Given the description of an element on the screen output the (x, y) to click on. 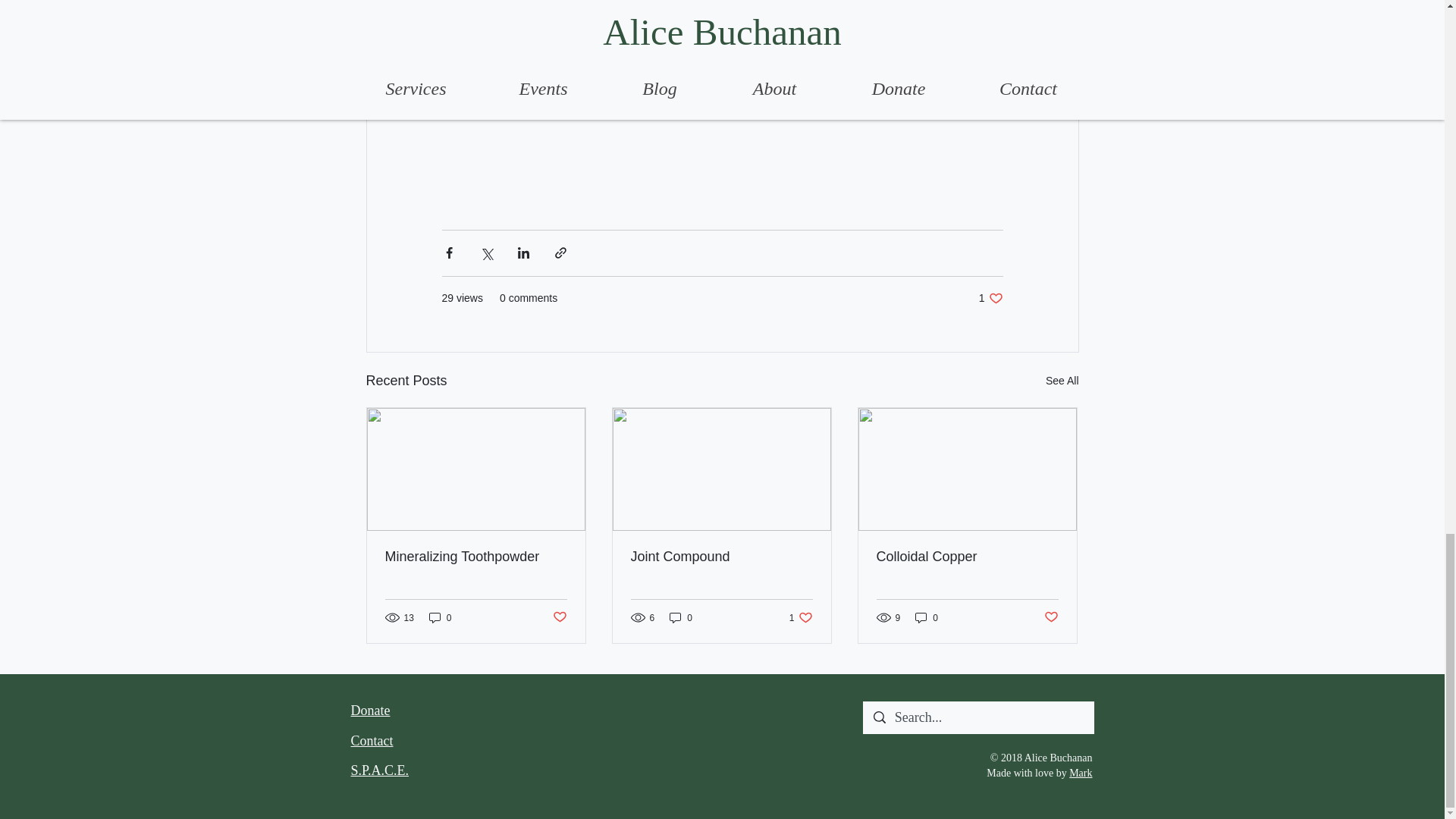
Mineralizing Toothpowder (800, 617)
0 (476, 556)
S.P.A.C.E. (681, 617)
0 (379, 770)
Colloidal Copper (990, 298)
Contact (926, 617)
Post not marked as liked (967, 556)
See All (371, 740)
Donate (558, 617)
Post not marked as liked (1061, 381)
Joint Compound (370, 710)
0 (1050, 617)
